Given the description of an element on the screen output the (x, y) to click on. 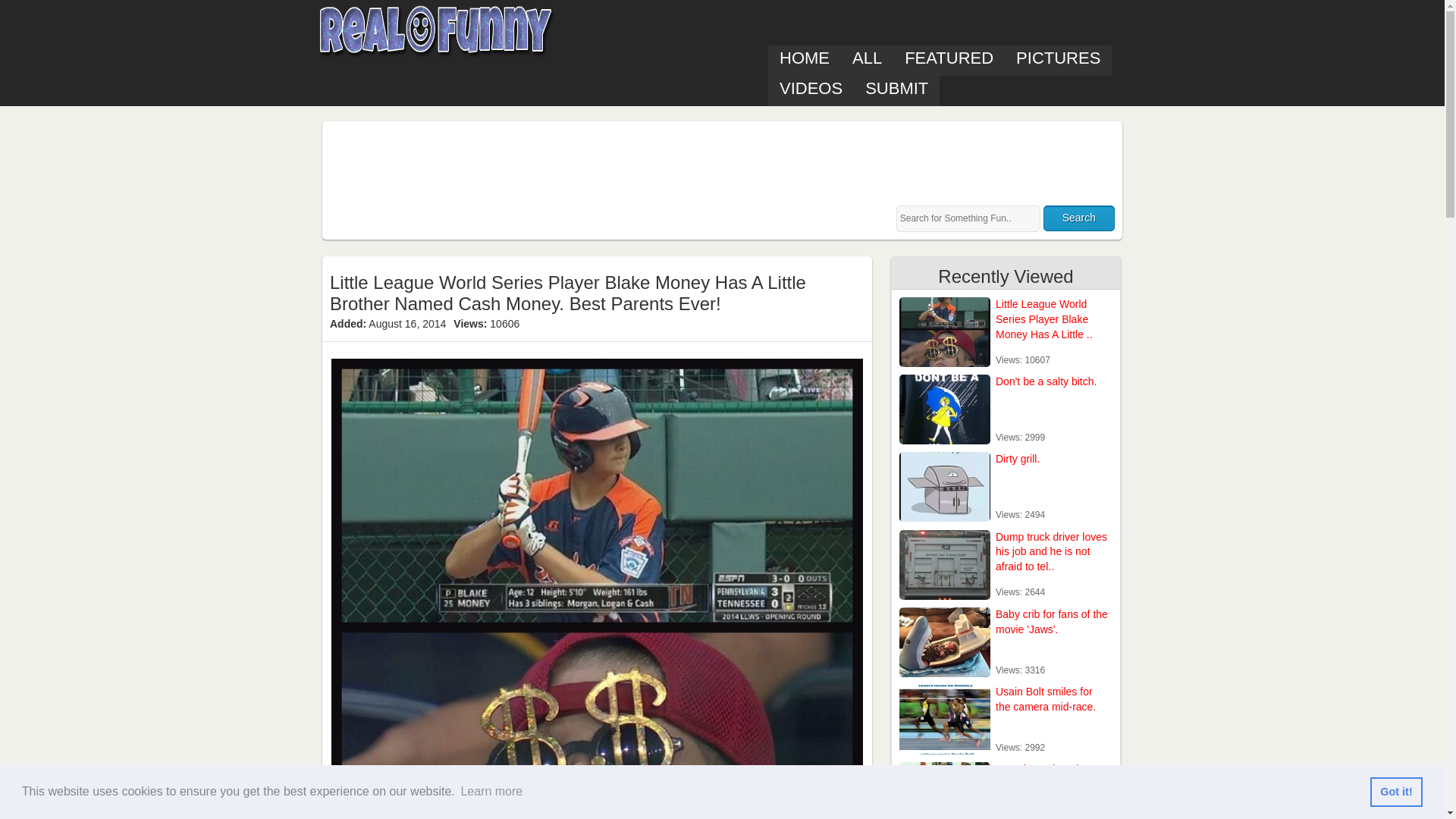
Learn more (491, 791)
Usain Bolt smiles for the camera mid-race. (1045, 698)
Don't be a salty bitch. (1045, 381)
Got it! (1396, 791)
SUBMIT (896, 91)
HOME (804, 60)
Baby crib for fans of the movie 'Jaws'. (1051, 621)
FEATURED (948, 60)
PICTURES (1058, 60)
Search (1079, 217)
ALL (867, 60)
VIDEOS (810, 91)
Advertisement (606, 162)
